Given the description of an element on the screen output the (x, y) to click on. 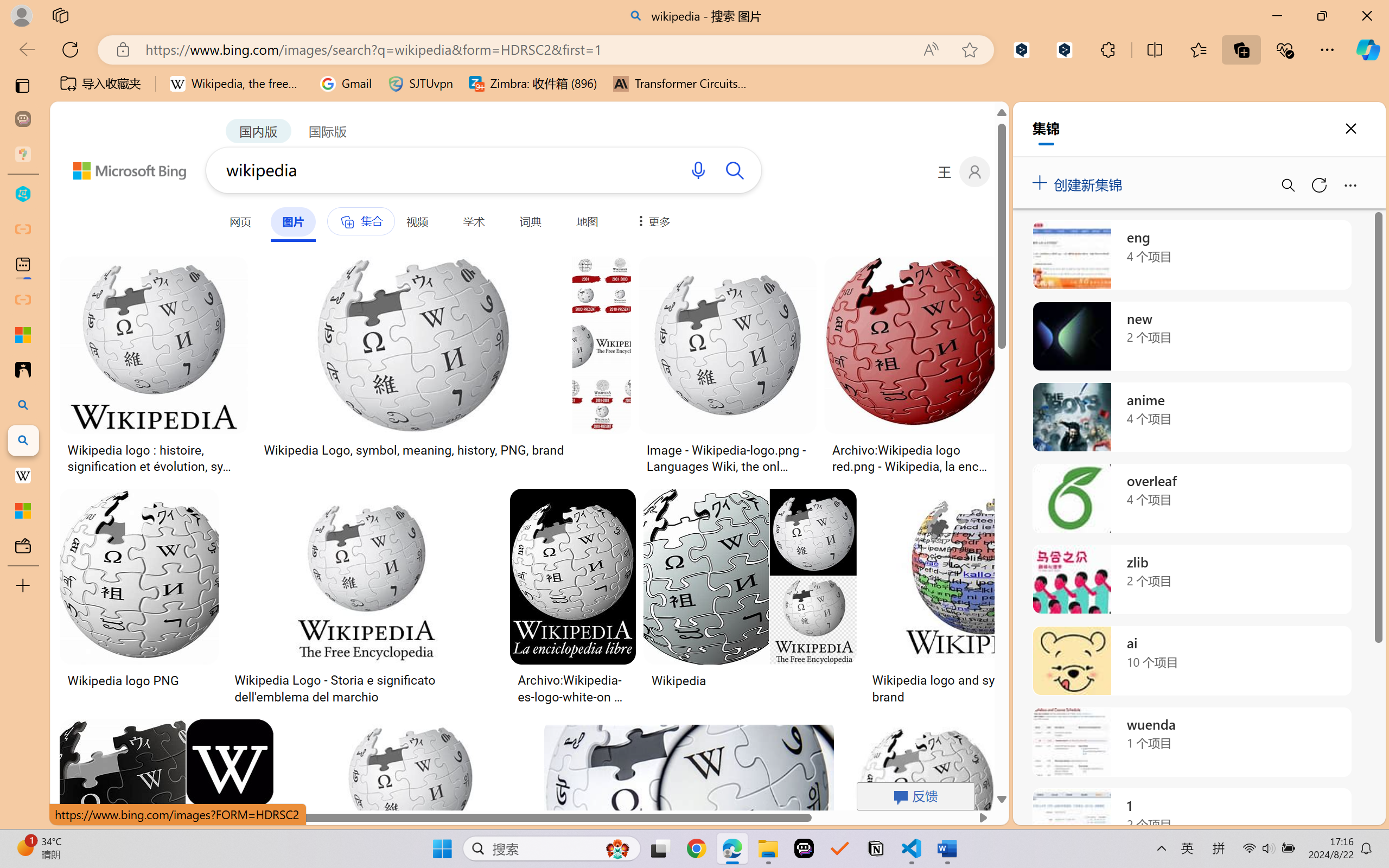
Subtitle Settings (479, 71)
Screen Reader (437, 91)
Captions & Subtitles (553, 91)
